Given the description of an element on the screen output the (x, y) to click on. 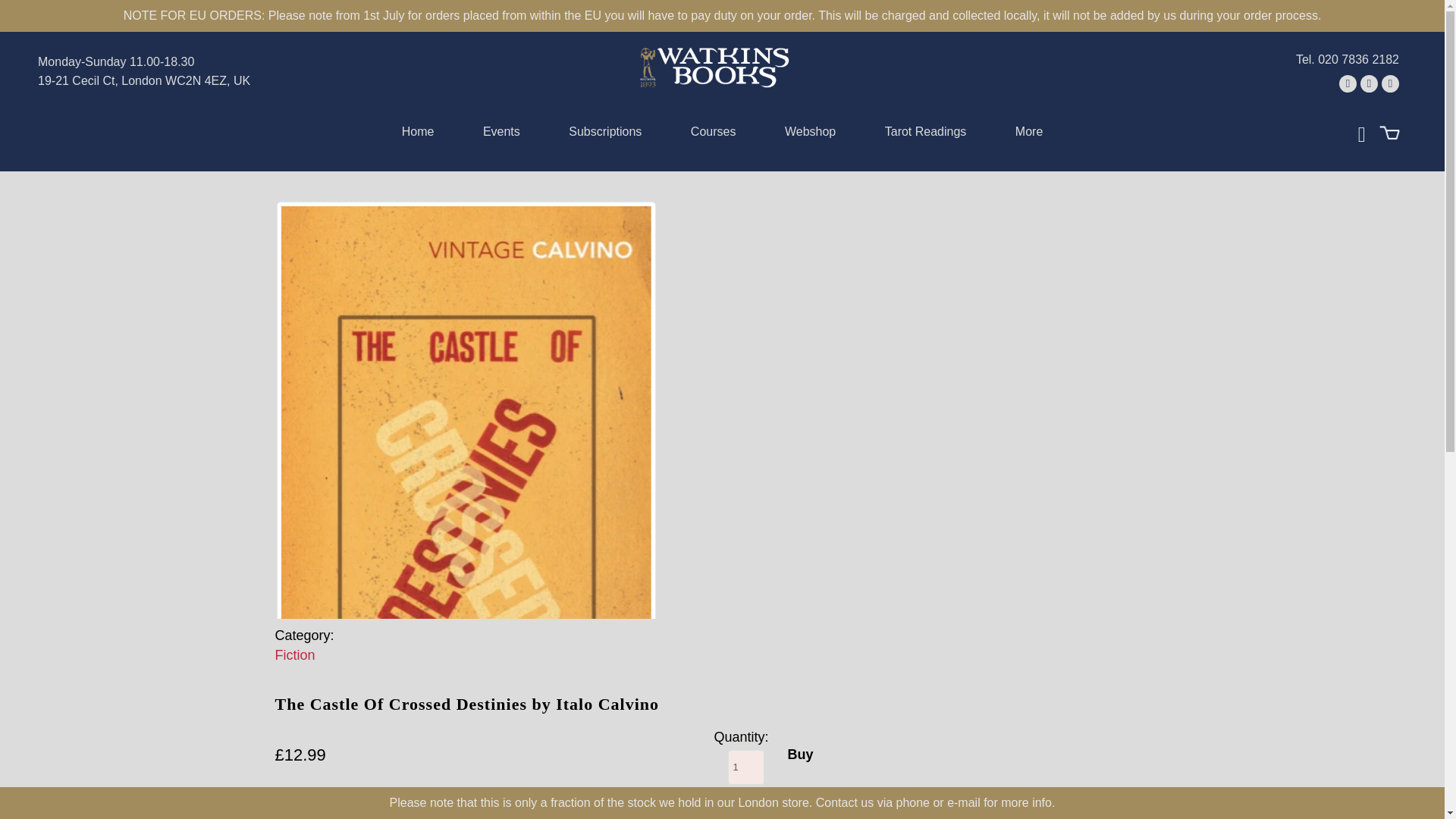
Subscriptions (605, 135)
Watkins Books on Facebook (1368, 83)
1 (746, 767)
Buy (799, 754)
Watkins Books on Twitter (1347, 83)
Buy (799, 754)
Watkins Books (714, 67)
Fiction (294, 654)
Webshop (809, 135)
Watkins Books on Instagram (1390, 83)
Courses (713, 135)
Tarot Readings (925, 135)
Fiction (294, 654)
